Given the description of an element on the screen output the (x, y) to click on. 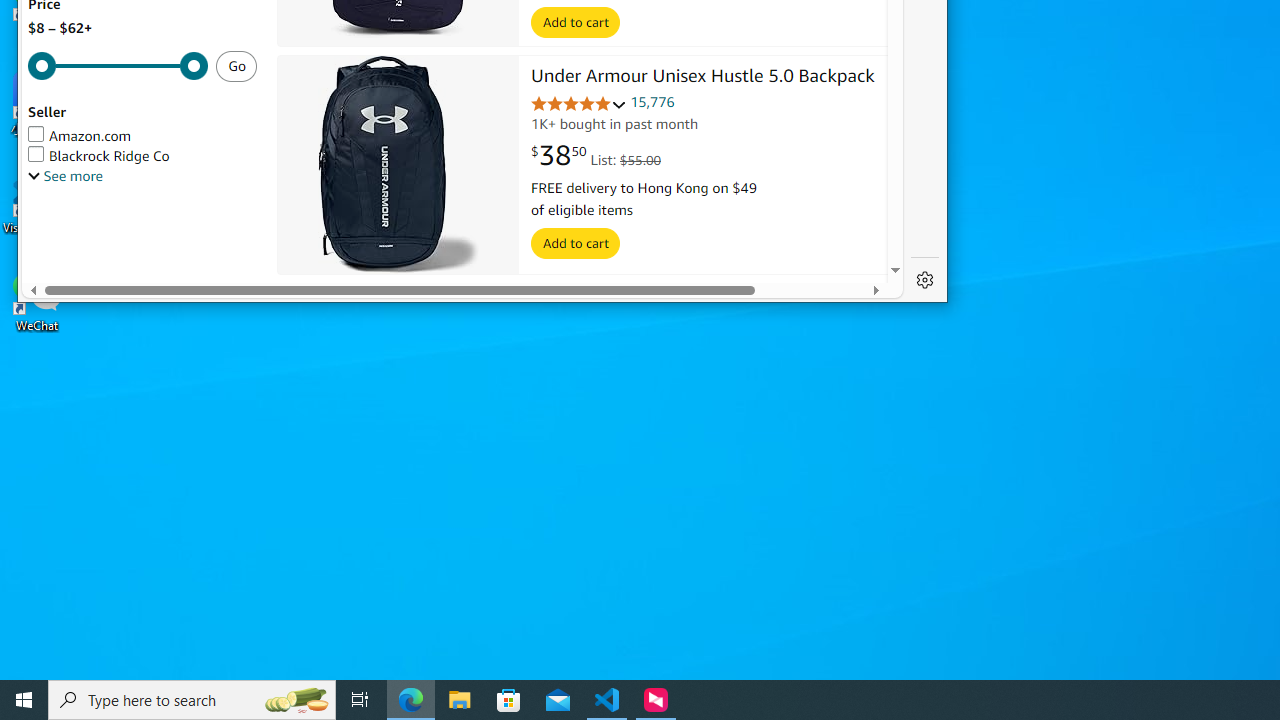
File Explorer (460, 699)
Task View (359, 699)
Skip to main search results (106, 273)
Under Armour Unisex Hustle 5.0 Backpack (703, 77)
Minimum (118, 66)
Blackrock Ridge Co (142, 156)
Microsoft Edge - 1 running window (411, 699)
Under Armour Unisex Hustle 5.0 Backpack (397, 165)
Maximum (118, 66)
